Given the description of an element on the screen output the (x, y) to click on. 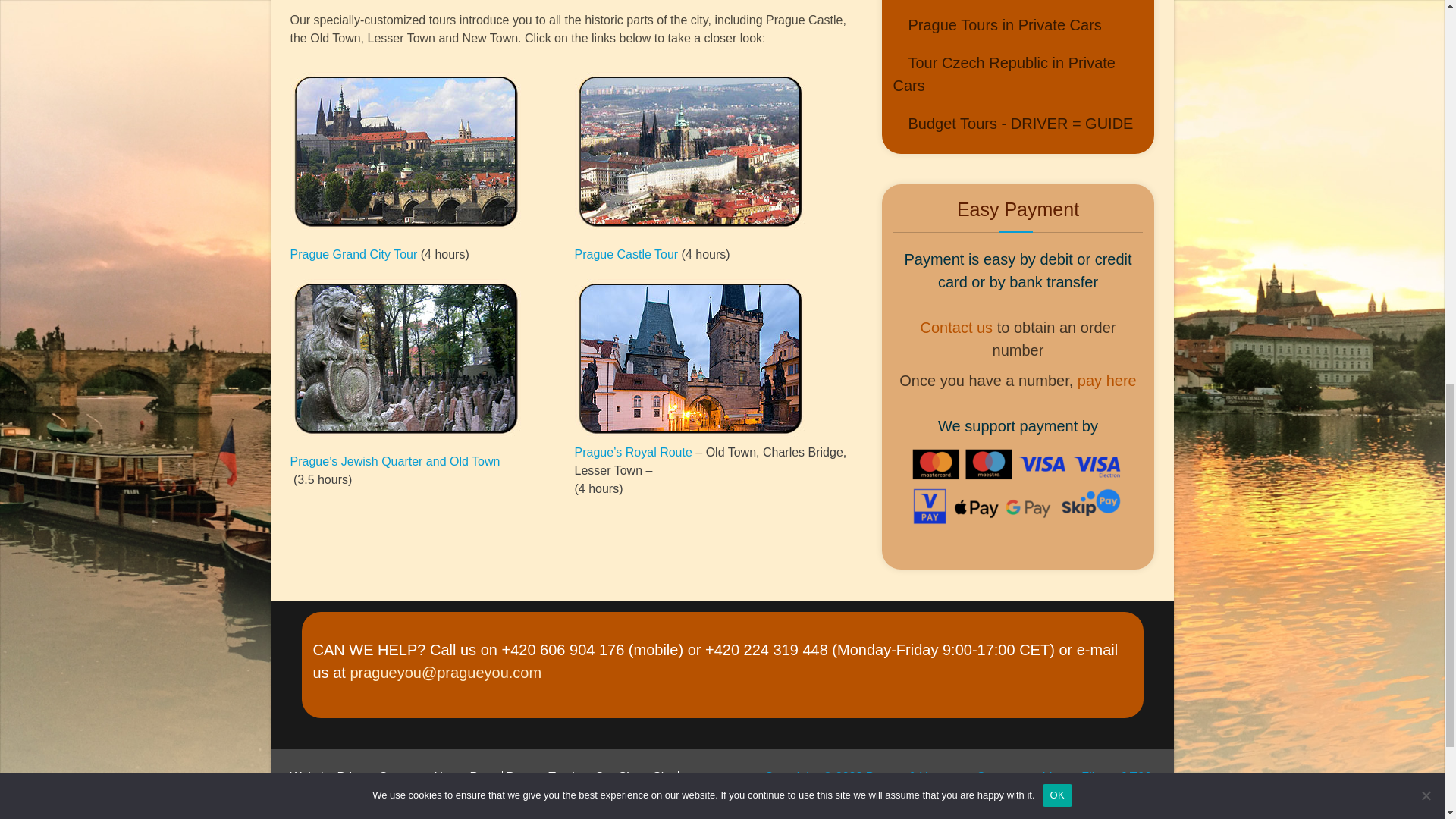
Tour Prague in a chaufeurred car, van or bus (997, 24)
